Given the description of an element on the screen output the (x, y) to click on. 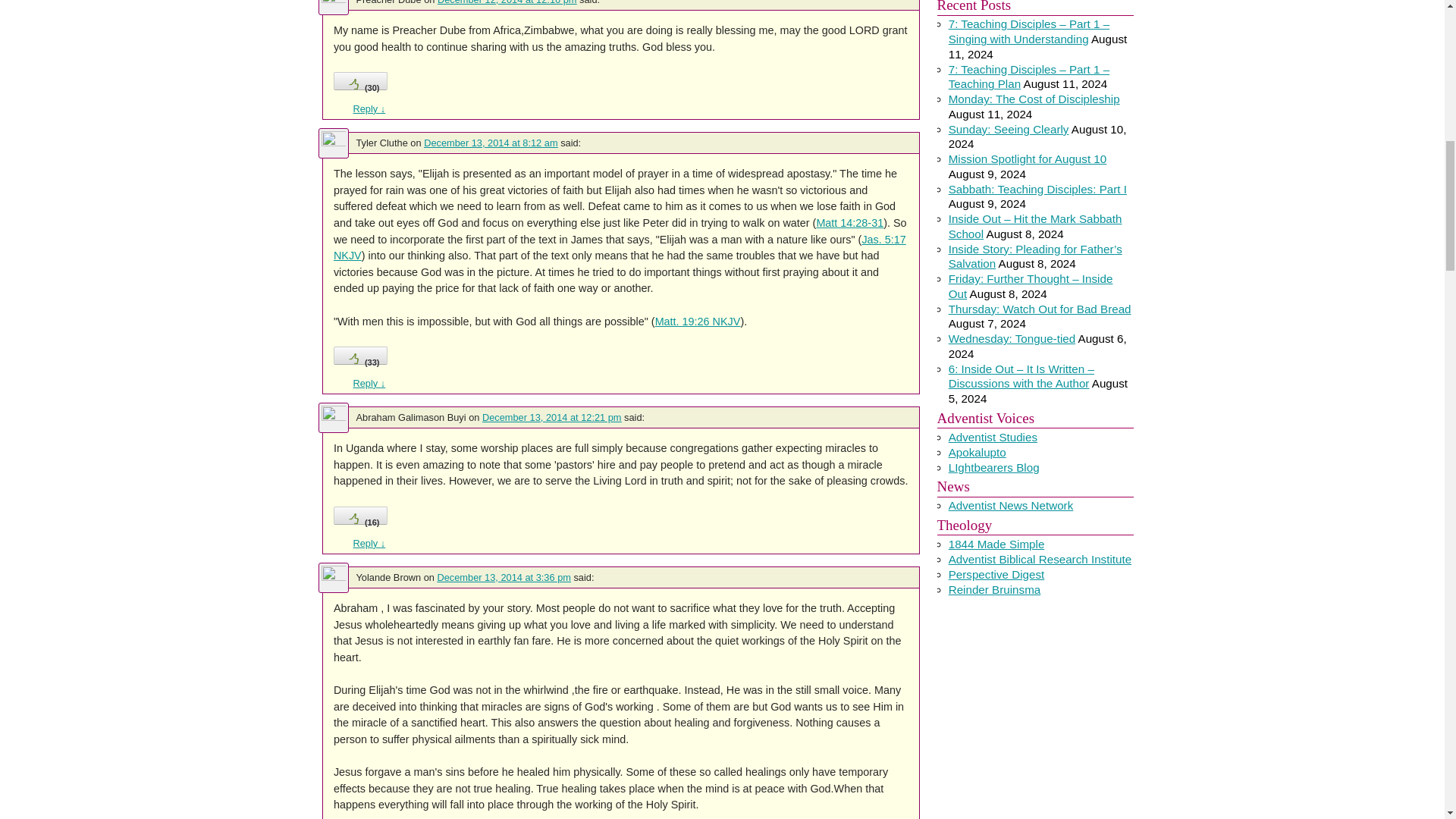
by Arthur Patrick of Avondale (992, 436)
 David Hamstra blog (977, 451)
Official Adventist News Network (1011, 504)
Publication of Adventist Theological Society (997, 574)
